Given the description of an element on the screen output the (x, y) to click on. 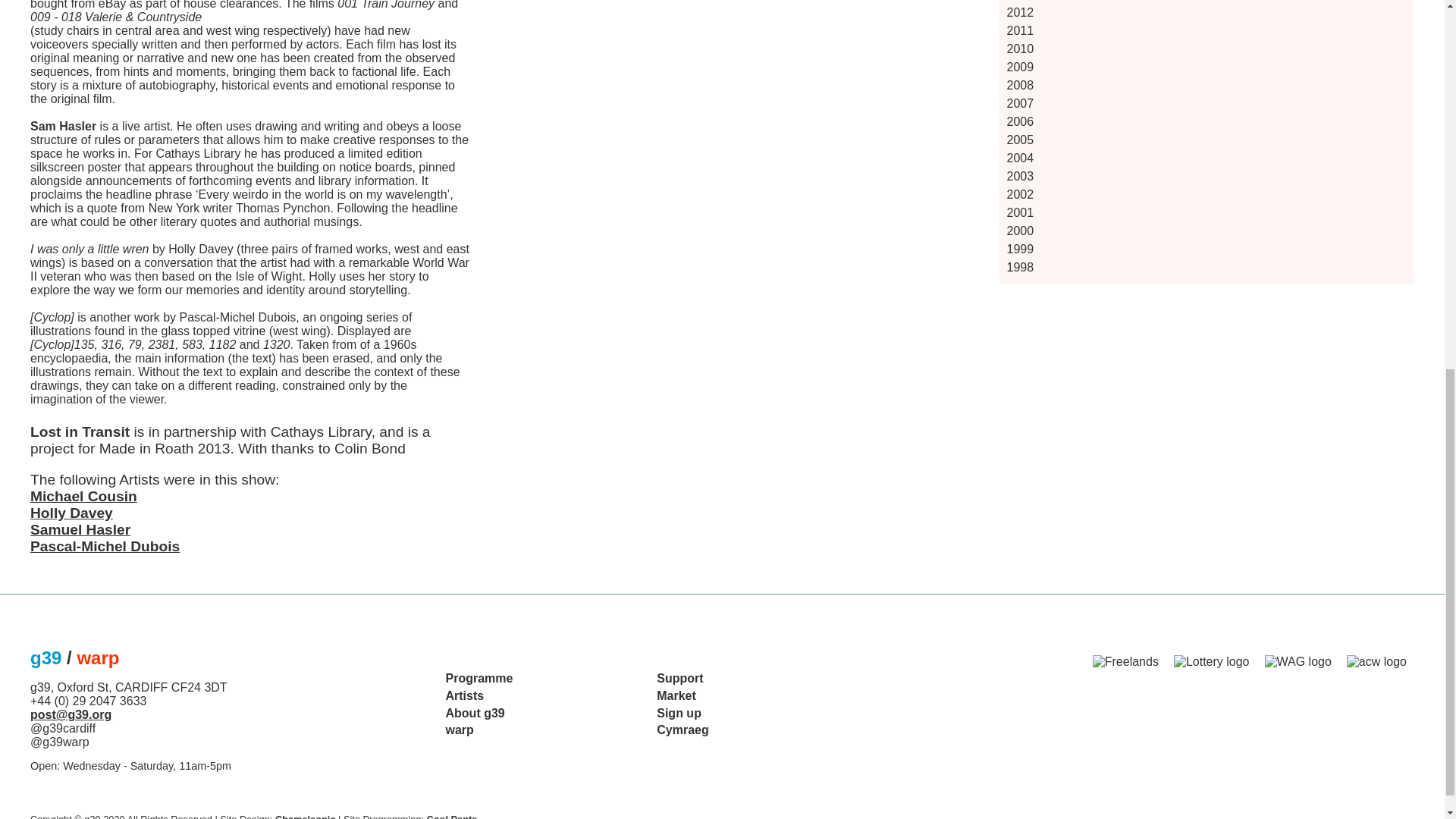
Holly Davey (71, 512)
Samuel Hasler (80, 529)
Pascal-Michel Dubois (104, 546)
Michael Cousin (83, 496)
